Given the description of an element on the screen output the (x, y) to click on. 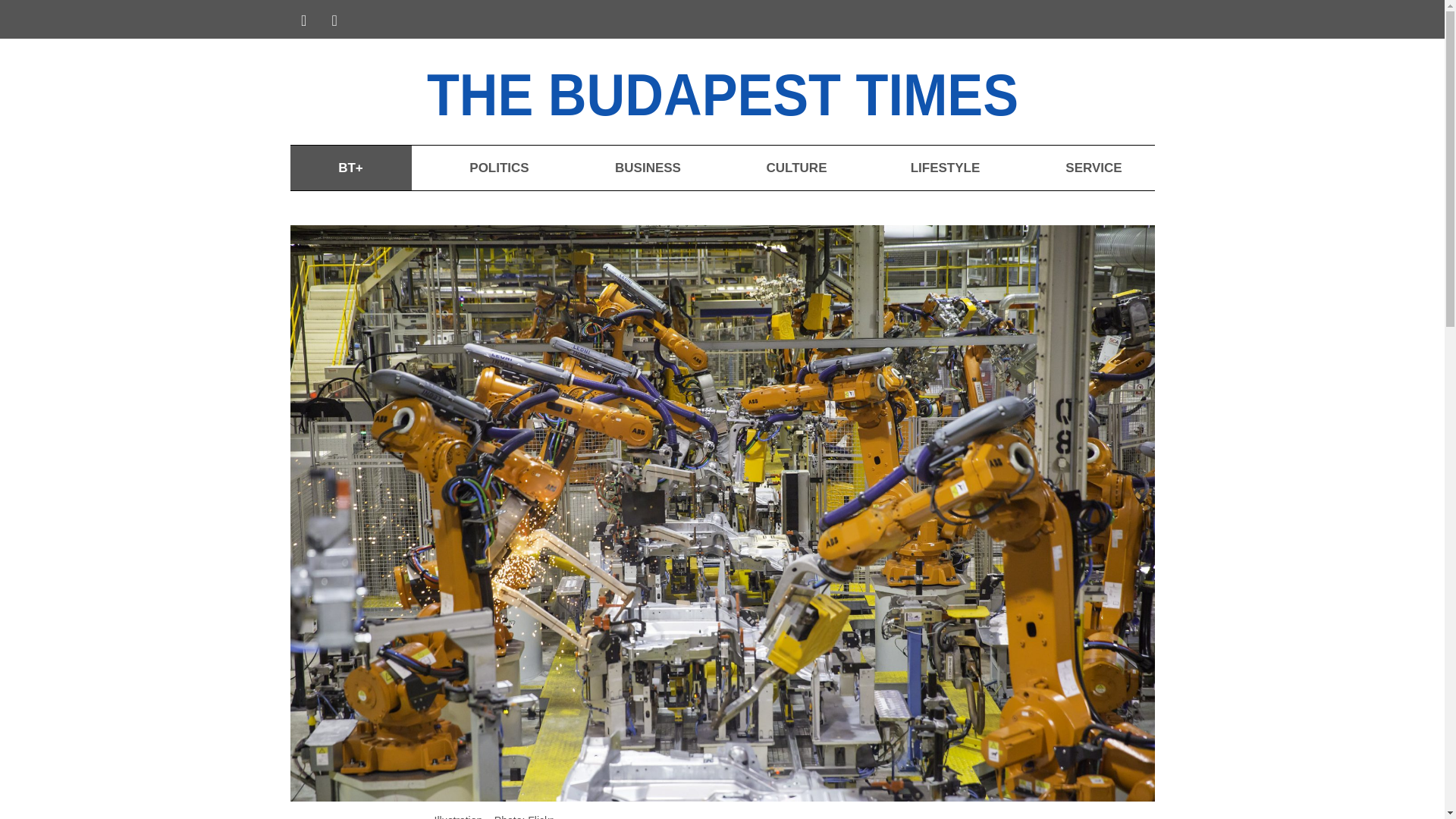
POLITICS (498, 167)
BUSINESS (646, 167)
THE BUDAPEST TIMES (765, 91)
Login (1131, 20)
LIFESTYLE (944, 167)
CULTURE (796, 167)
SERVICE (1093, 167)
